Given the description of an element on the screen output the (x, y) to click on. 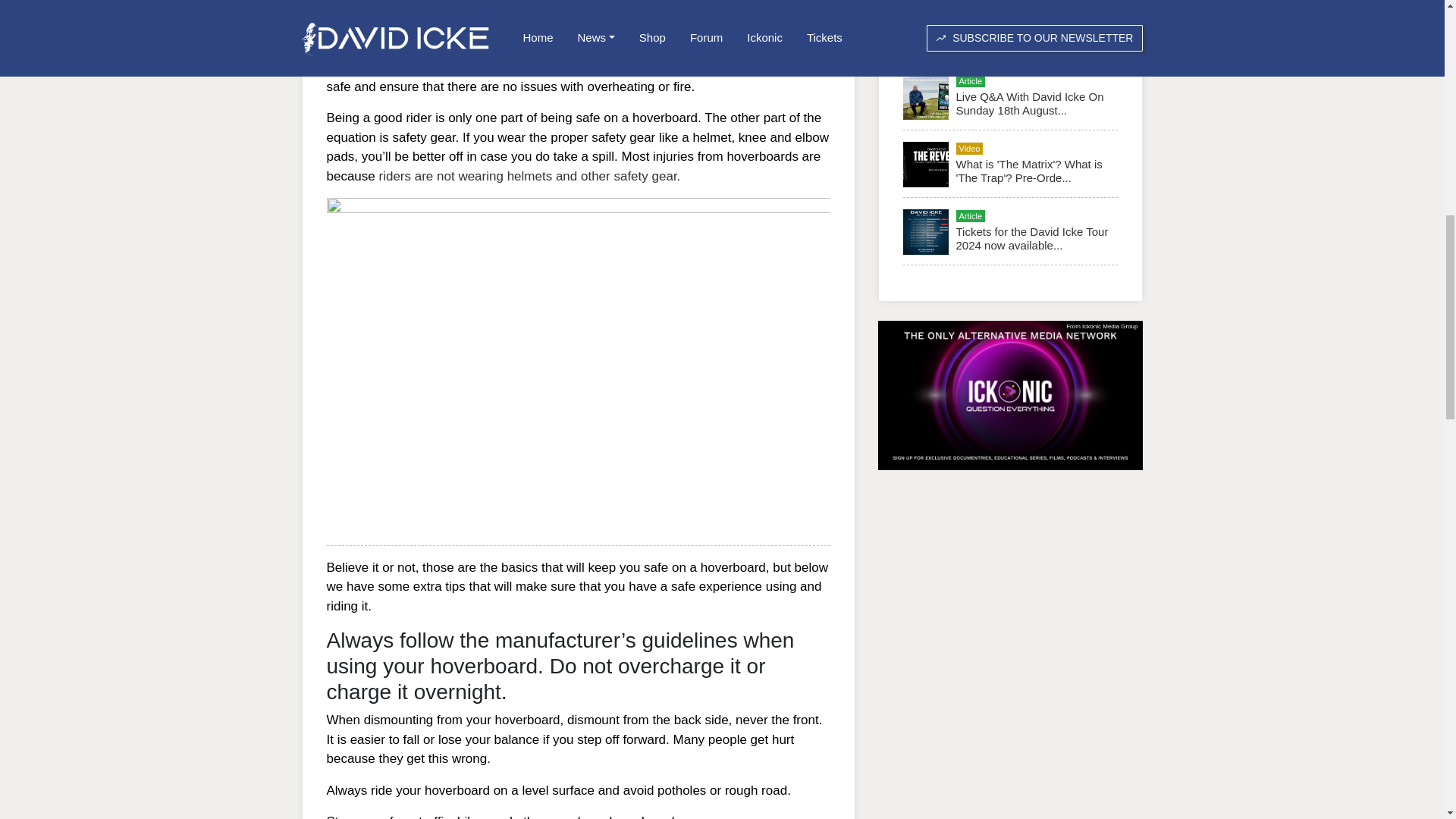
riders are not wearing helmets and other safety gear. (529, 175)
